Given the description of an element on the screen output the (x, y) to click on. 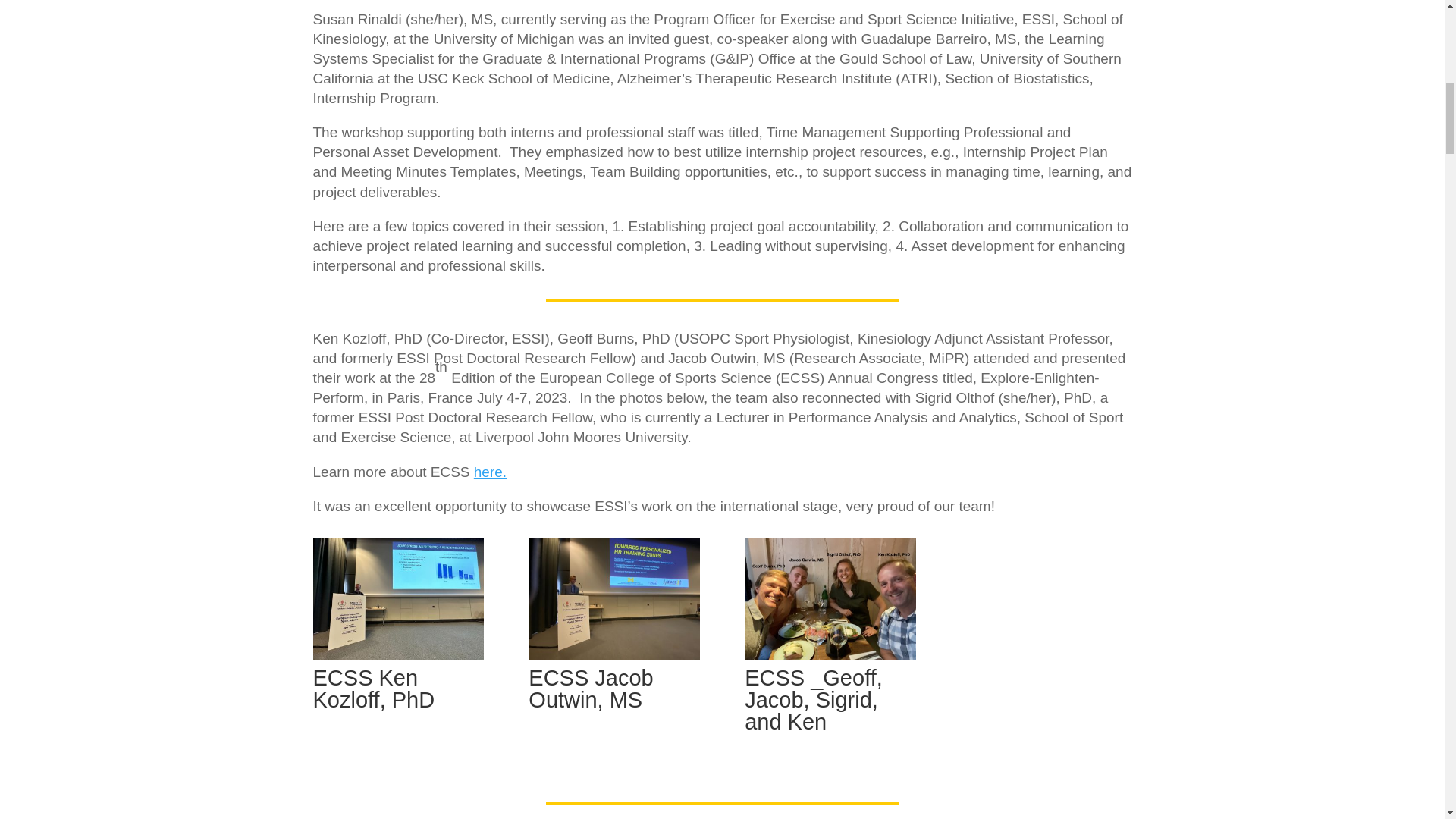
ECSS Ken Kozloff, PhD (398, 654)
ECSS Jacob Outwin, MS (613, 654)
here. (490, 471)
